Given the description of an element on the screen output the (x, y) to click on. 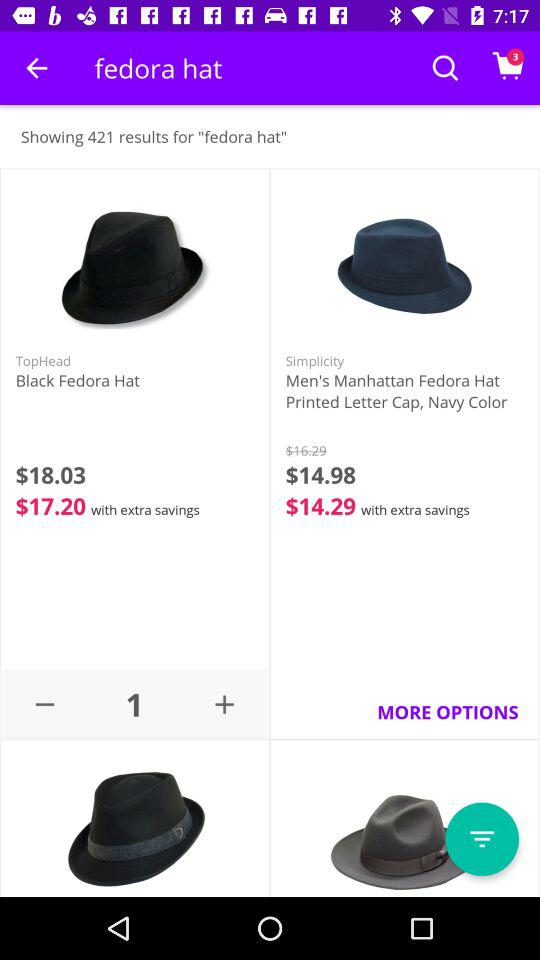
press icon below the more options item (482, 839)
